Given the description of an element on the screen output the (x, y) to click on. 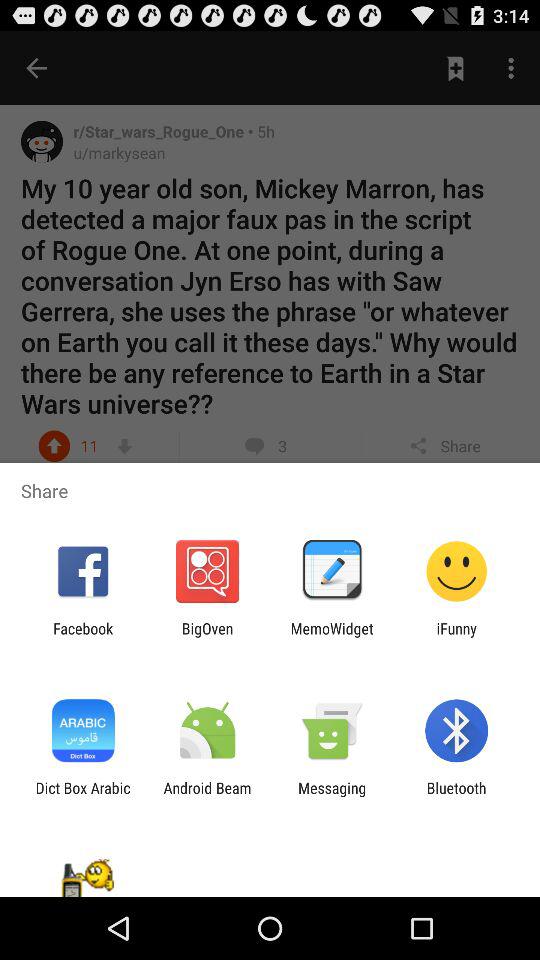
turn on the item next to the facebook item (207, 637)
